Given the description of an element on the screen output the (x, y) to click on. 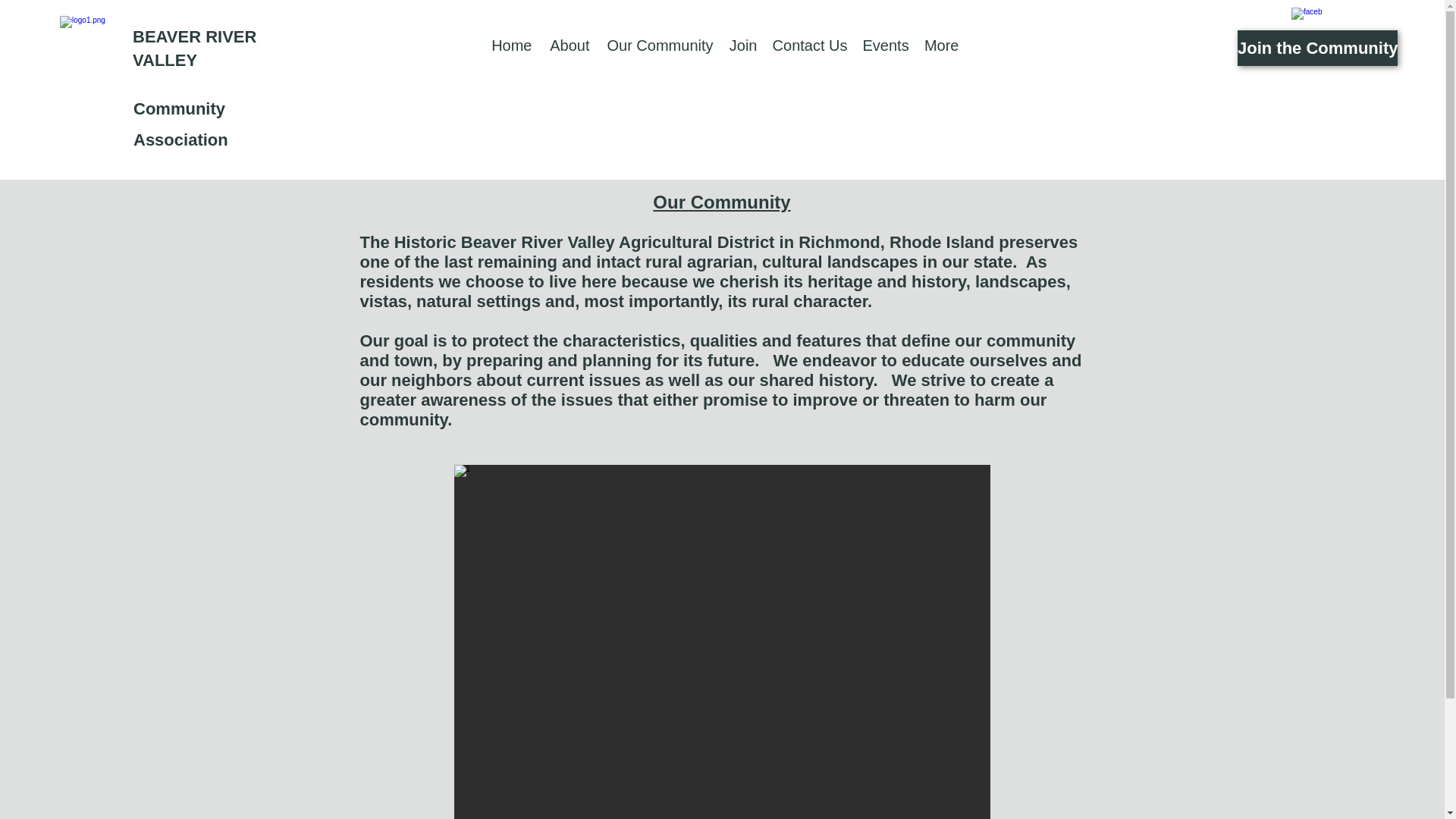
Join the Community (1317, 48)
Events (885, 45)
Home (511, 45)
BEAVER RIVER VALLEY (194, 48)
Contact Us (809, 45)
Join (742, 45)
About (568, 45)
Our Community (658, 45)
